Given the description of an element on the screen output the (x, y) to click on. 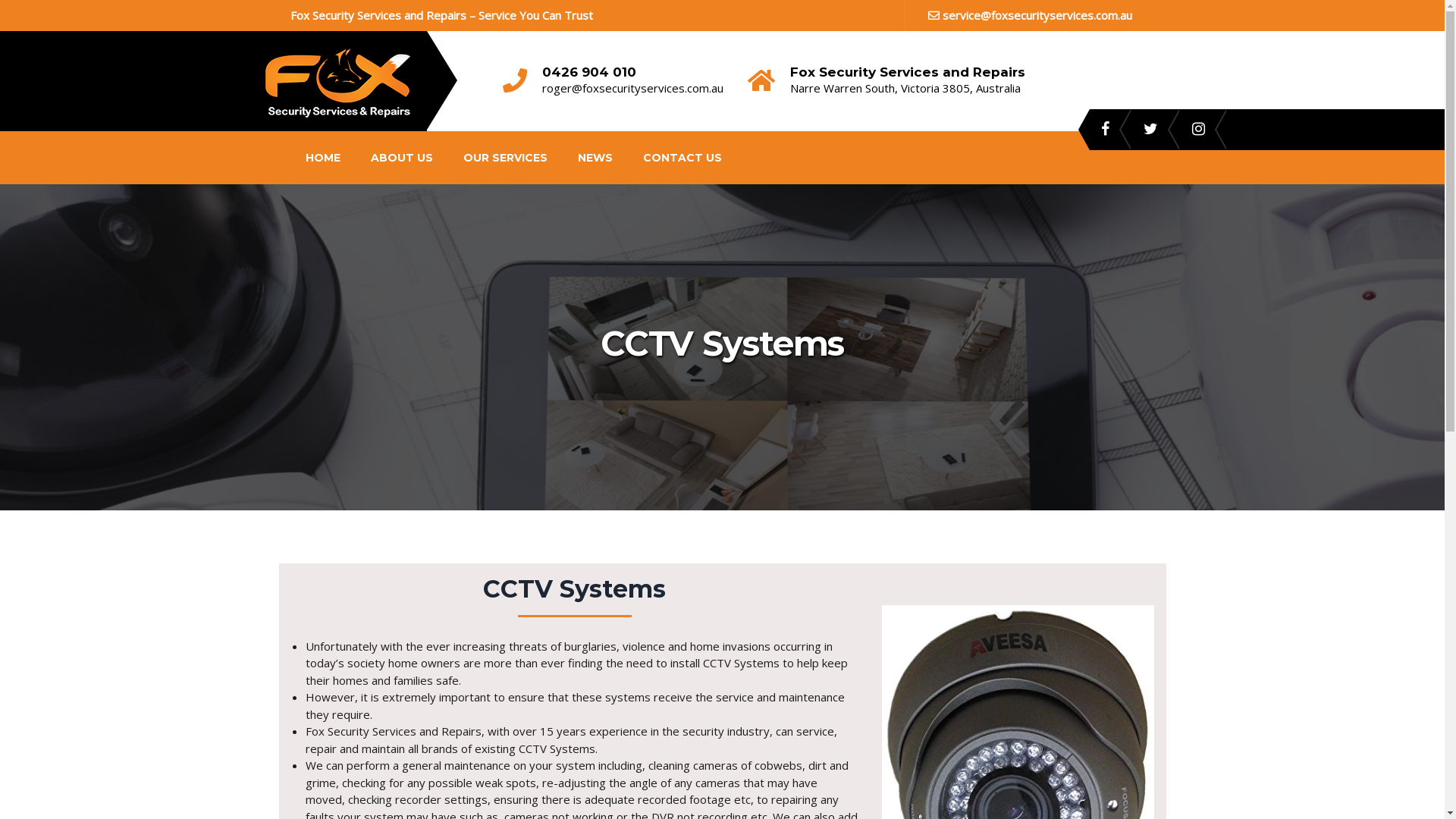
OUR SERVICES Element type: text (504, 155)
CONTACT US Element type: text (682, 155)
service@foxsecurityservices.com.au Element type: text (1030, 14)
HOME Element type: text (321, 155)
ABOUT US Element type: text (400, 155)
NEWS Element type: text (594, 155)
